Given the description of an element on the screen output the (x, y) to click on. 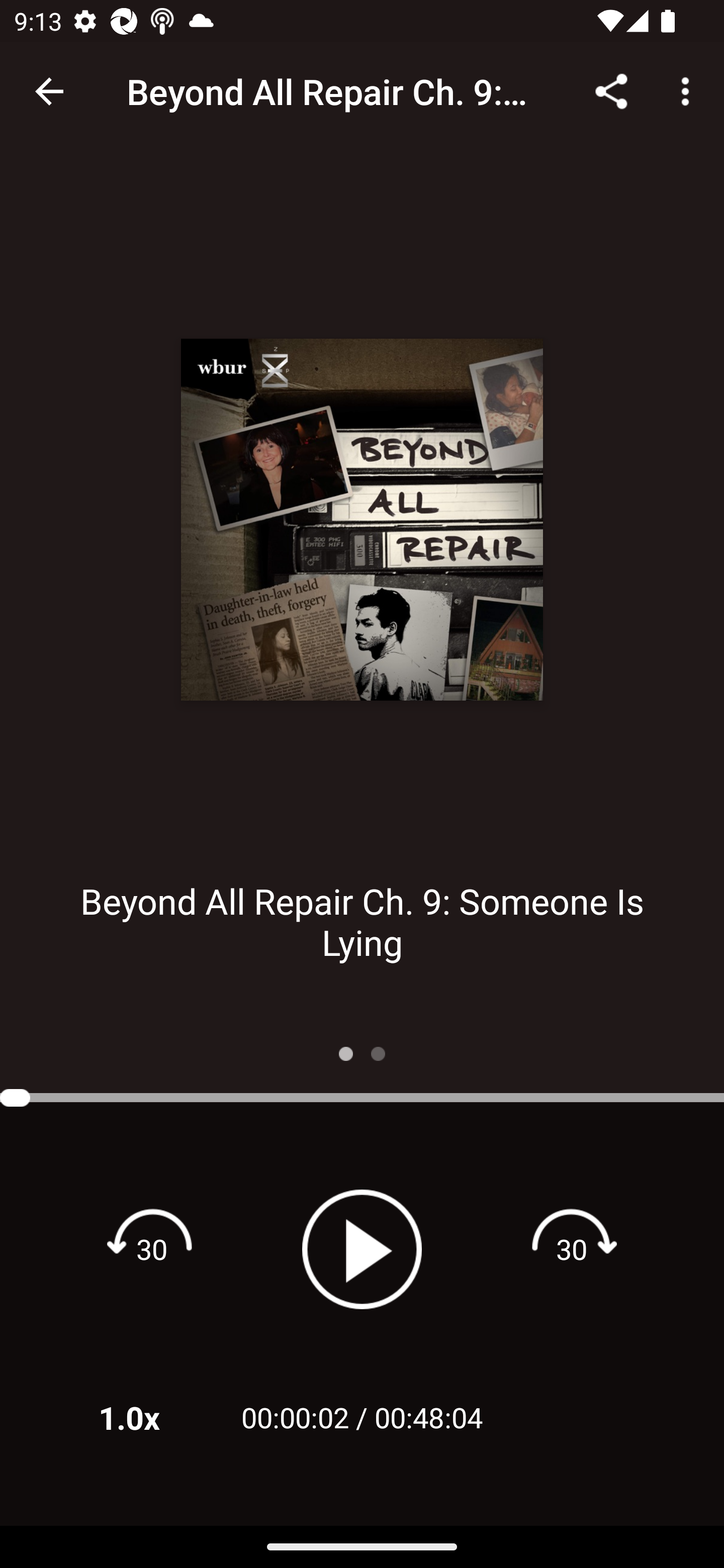
Navigate up (49, 91)
Share... (611, 90)
More options (688, 90)
Play (361, 1249)
Rewind (151, 1248)
Fast forward (571, 1248)
1.0x Playback Speeds (154, 1417)
00:48:04 (428, 1417)
